Given the description of an element on the screen output the (x, y) to click on. 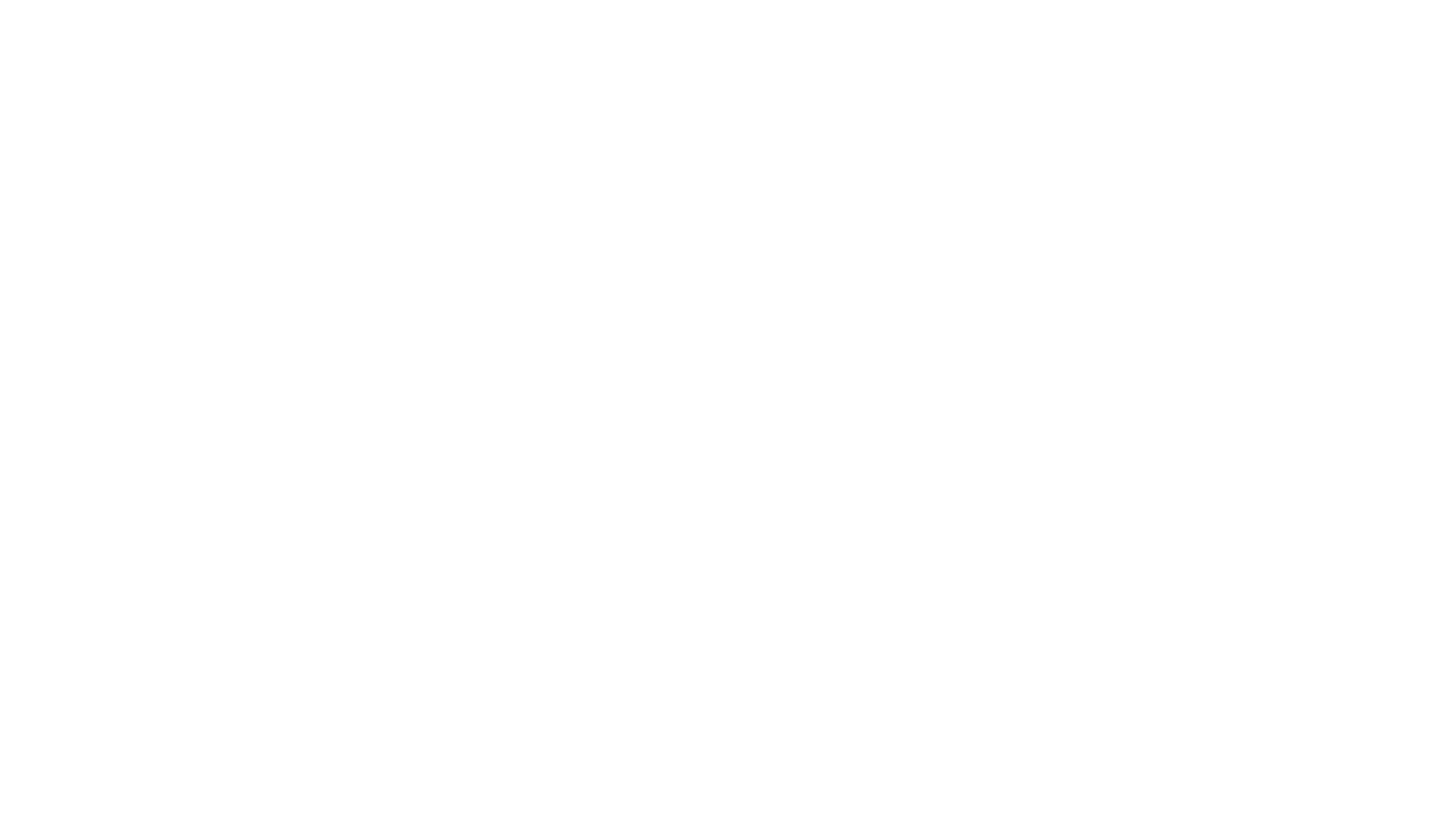
BIO Element type: text (863, 29)
AUDIO Element type: text (587, 29)
LIENS Element type: text (948, 29)
NEWS Element type: text (491, 29)
LIVE Element type: text (781, 29)
CONTACT Element type: text (1052, 29)
